Given the description of an element on the screen output the (x, y) to click on. 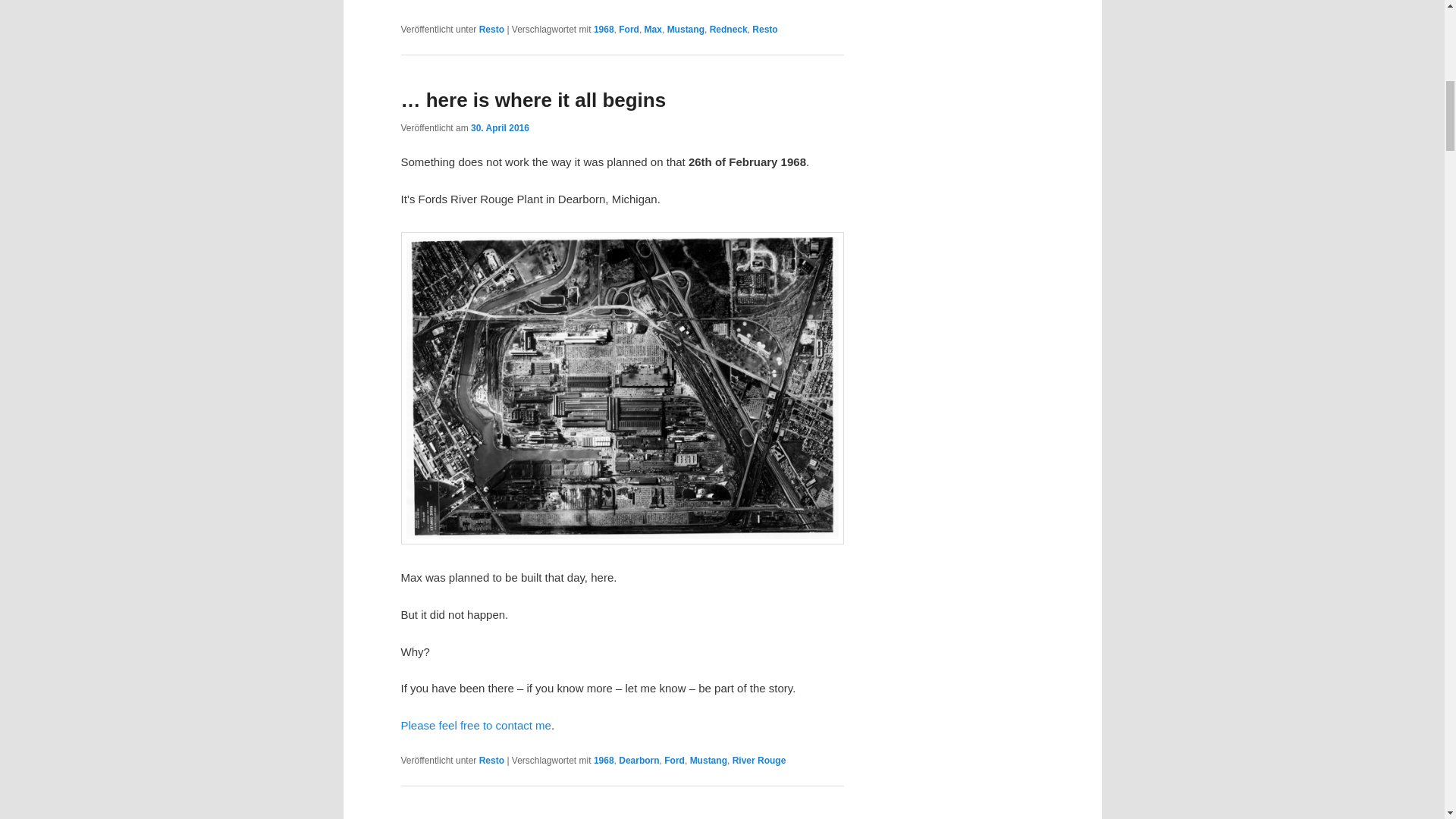
Dearborn (638, 760)
Please feel free to contact me (475, 725)
Max (653, 29)
Mustang (685, 29)
1968 (604, 760)
Resto (491, 760)
Redneck (729, 29)
Ford (673, 760)
30. April 2016 (499, 127)
Ford (628, 29)
